Given the description of an element on the screen output the (x, y) to click on. 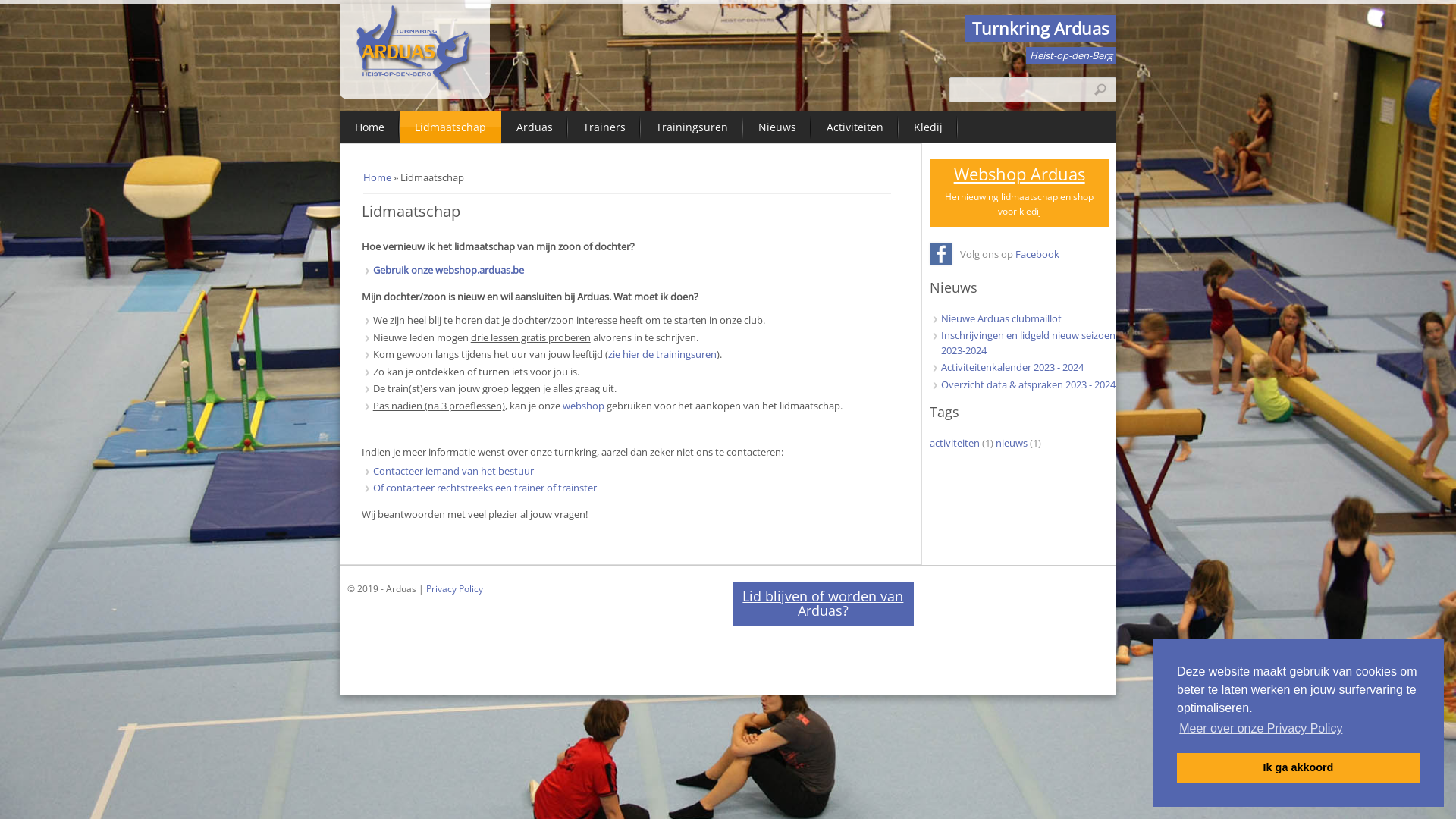
Webshop Arduas Element type: text (1019, 174)
Contacteer iemand van het bestuur Element type: text (453, 470)
Inschrijvingen en lidgeld nieuw seizoen 2023-2024 Element type: text (1028, 342)
Privacy Policy Element type: text (454, 588)
Geef de woorden op waarnaar u wilt zoeken. Element type: hover (1032, 89)
Activiteiten Element type: text (854, 127)
Home Element type: text (377, 177)
webshop Element type: text (583, 405)
Meer over onze Privacy Policy Element type: text (1260, 728)
Trainingsuren Element type: text (691, 127)
zie hier de trainingsuren Element type: text (662, 353)
Zoeken Element type: text (1102, 91)
Gebruik onze webshop.arduas.be Element type: text (448, 269)
Home Element type: text (369, 127)
activiteiten Element type: text (954, 441)
Lidmaatschap Element type: text (450, 127)
Activiteitenkalender 2023 - 2024 Element type: text (1012, 366)
Facebook Element type: text (1037, 253)
Overzicht data & afspraken 2023 - 2024 Element type: text (1028, 384)
Ik ga akkoord Element type: text (1297, 767)
Home Element type: hover (414, 90)
Lid blijven of worden van Arduas? Element type: text (822, 603)
Kledij Element type: text (927, 127)
Trainers Element type: text (603, 127)
Turnkring Arduas Element type: text (1040, 28)
Nieuws Element type: text (777, 127)
Of contacteer rechtstreeks een trainer of trainster Element type: text (484, 487)
Arduas Element type: text (534, 127)
nieuws Element type: text (1011, 441)
Nieuwe Arduas clubmaillot Element type: text (1001, 317)
